Given the description of an element on the screen output the (x, y) to click on. 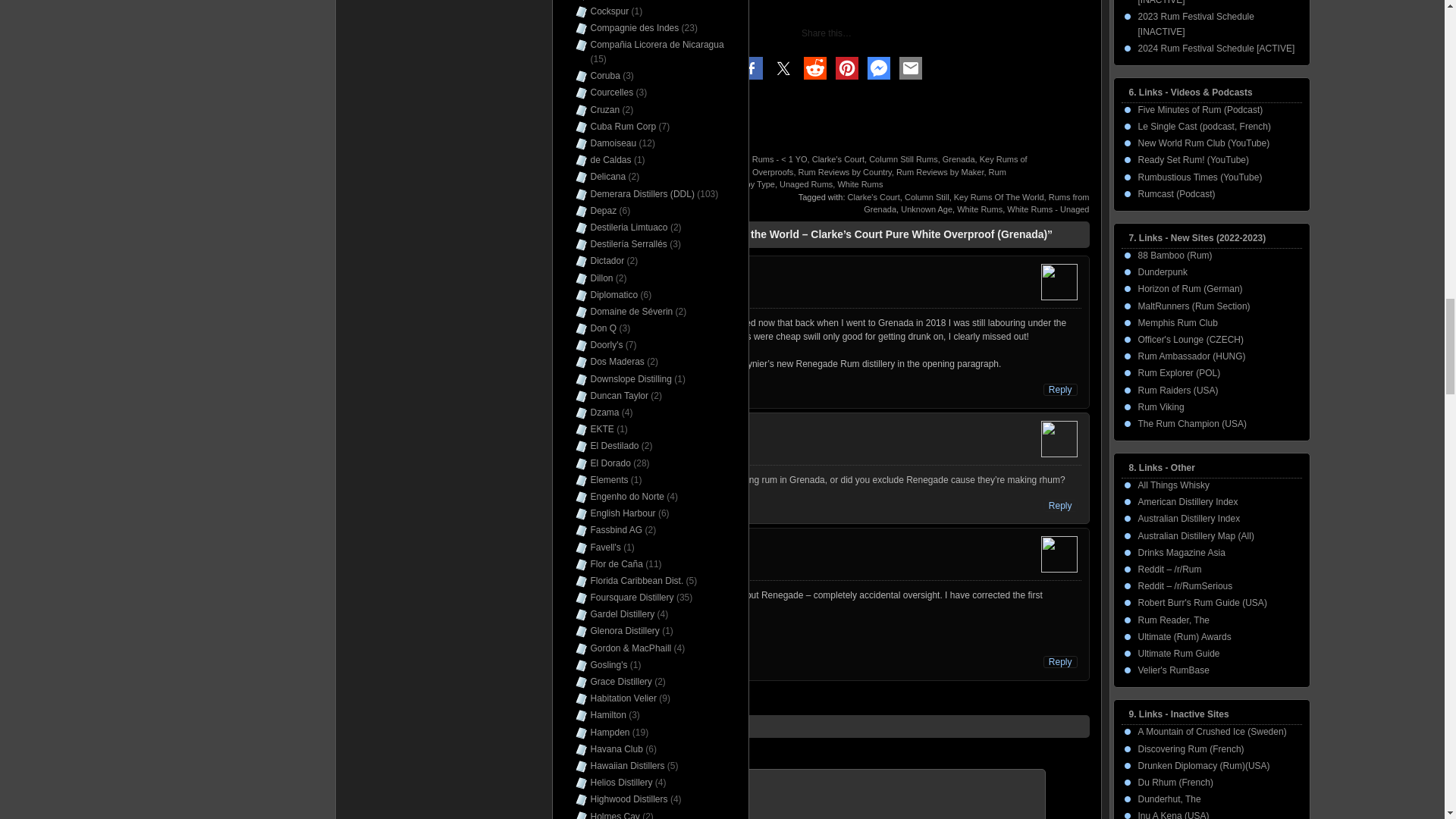
Key Rums of the World (869, 165)
Column Still Rums (903, 158)
Clarke's Court (838, 158)
Grenada (958, 158)
Ruminsky (639, 158)
